Given the description of an element on the screen output the (x, y) to click on. 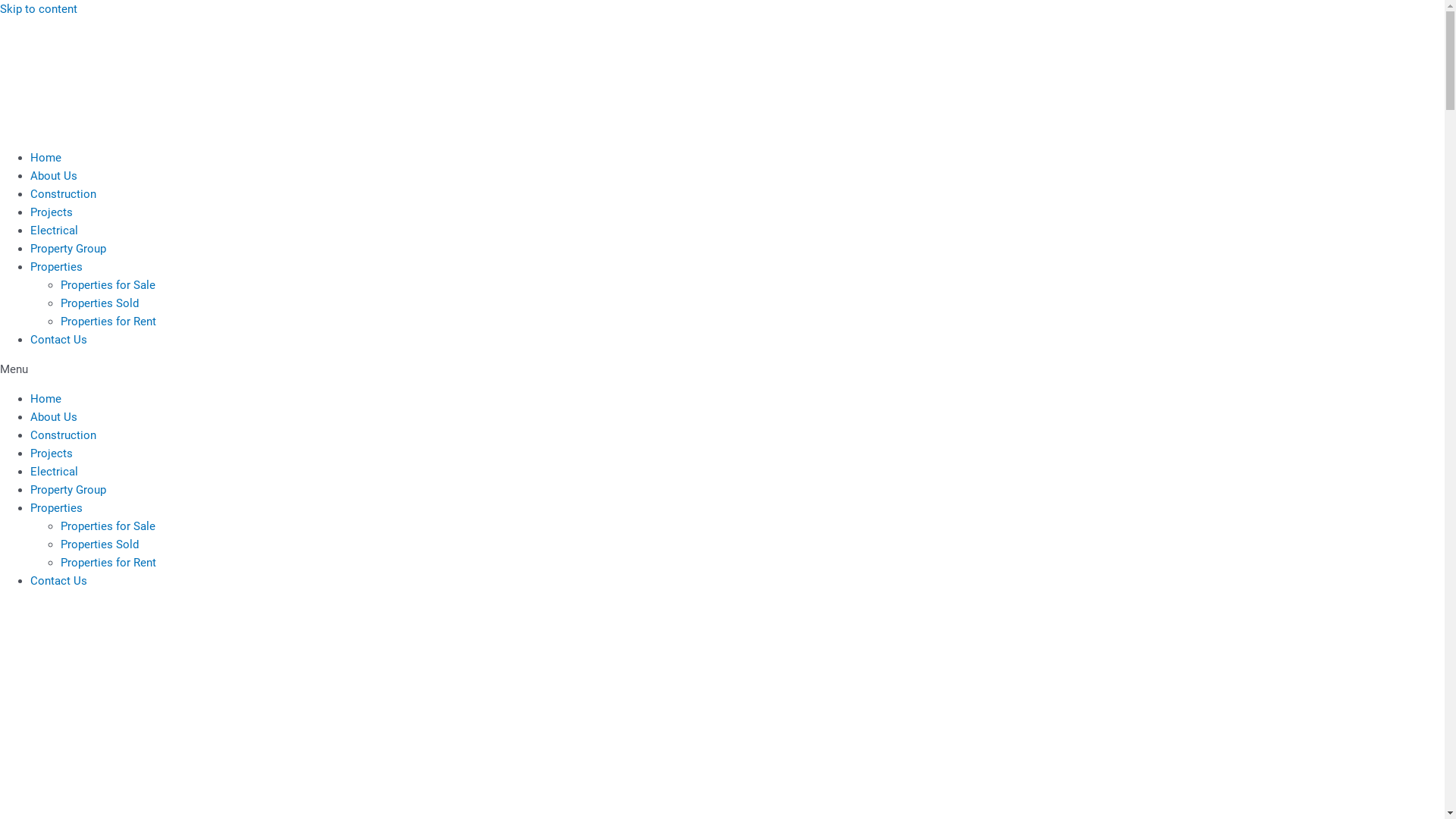
About Us Element type: text (53, 416)
Property Group Element type: text (68, 248)
About Us Element type: text (53, 175)
Projects Element type: text (51, 453)
Properties for Sale Element type: text (107, 284)
Electrical Element type: text (54, 230)
Properties Sold Element type: text (99, 544)
Properties for Sale Element type: text (107, 526)
Construction Element type: text (63, 435)
Properties for Rent Element type: text (108, 321)
Properties Sold Element type: text (99, 303)
Construction Element type: text (63, 193)
Projects Element type: text (51, 212)
Properties Element type: text (56, 266)
Properties for Rent Element type: text (108, 562)
Contact Us Element type: text (58, 580)
Electrical Element type: text (54, 471)
Home Element type: text (45, 157)
Property Group Element type: text (68, 489)
Contact Us Element type: text (58, 339)
Properties Element type: text (56, 507)
Home Element type: text (45, 398)
Skip to content Element type: text (38, 8)
